Given the description of an element on the screen output the (x, y) to click on. 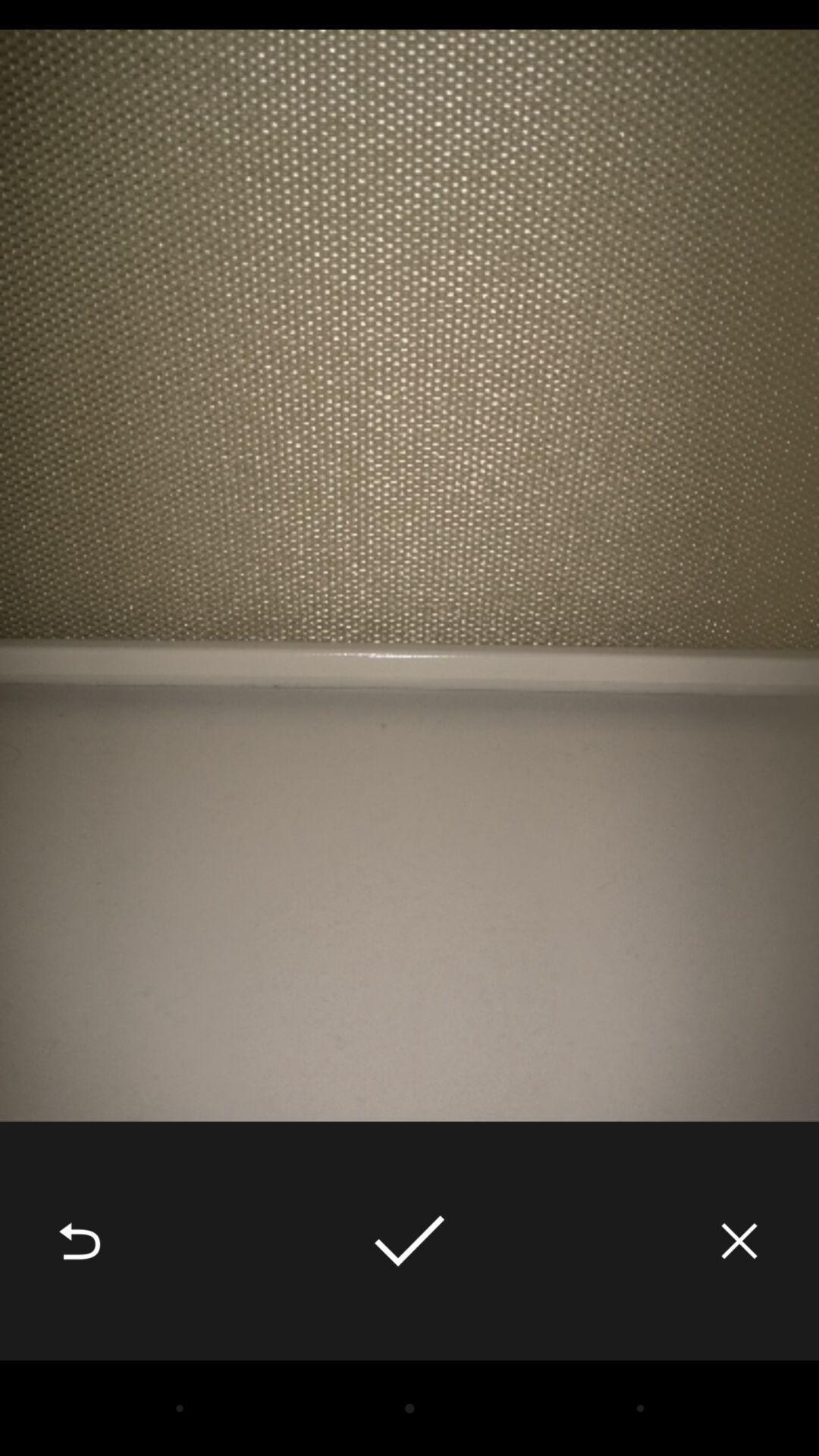
open the icon at the bottom left corner (79, 1240)
